Given the description of an element on the screen output the (x, y) to click on. 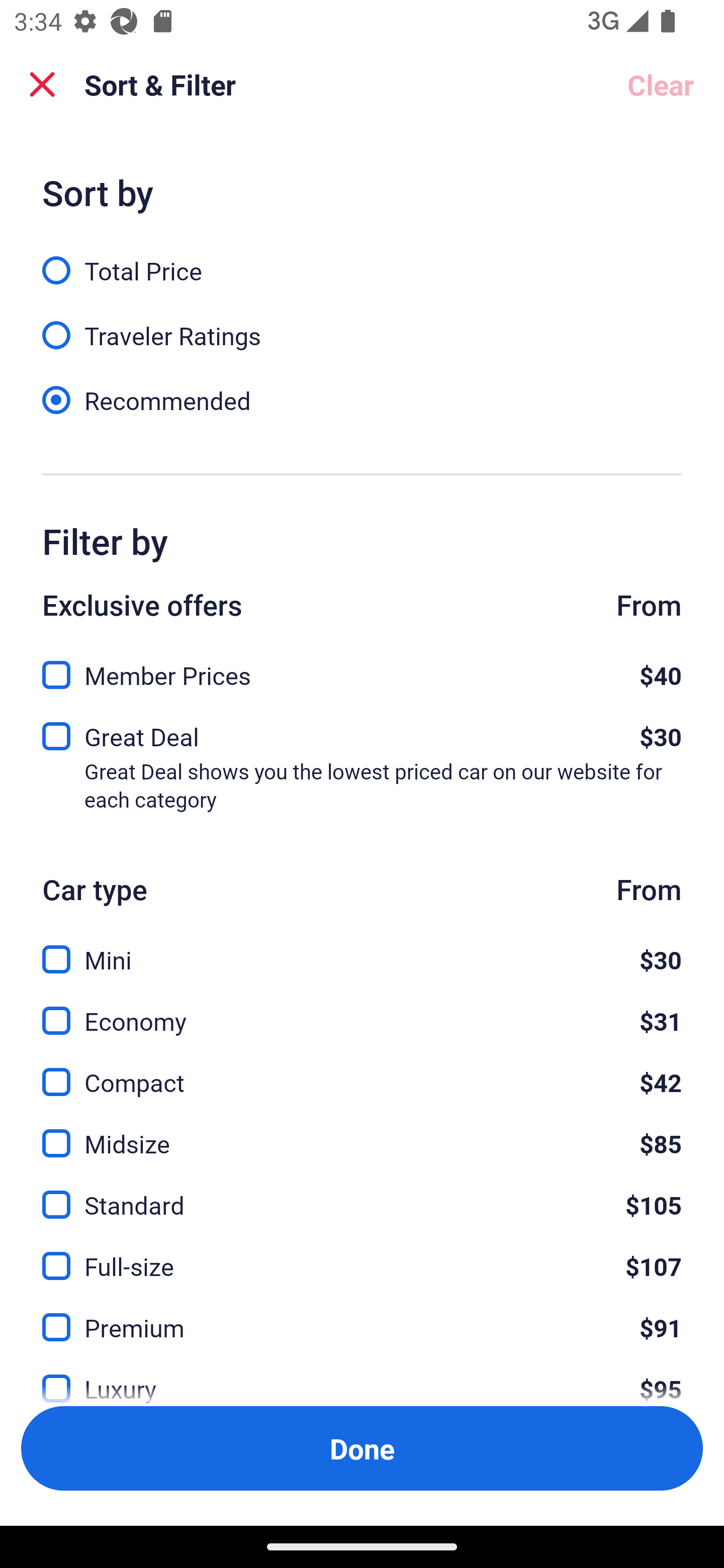
Close Sort and Filter (42, 84)
Clear (660, 84)
Total Price (361, 259)
Traveler Ratings (361, 324)
Member Prices, $40 Member Prices $40 (361, 669)
Mini, $30 Mini $30 (361, 947)
Economy, $31 Economy $31 (361, 1008)
Compact, $42 Compact $42 (361, 1070)
Midsize, $85 Midsize $85 (361, 1132)
Standard, $105 Standard $105 (361, 1193)
Full-size, $107 Full-size $107 (361, 1254)
Premium, $91 Premium $91 (361, 1315)
Luxury, $95 Luxury $95 (361, 1376)
Apply and close Sort and Filter Done (361, 1448)
